Given the description of an element on the screen output the (x, y) to click on. 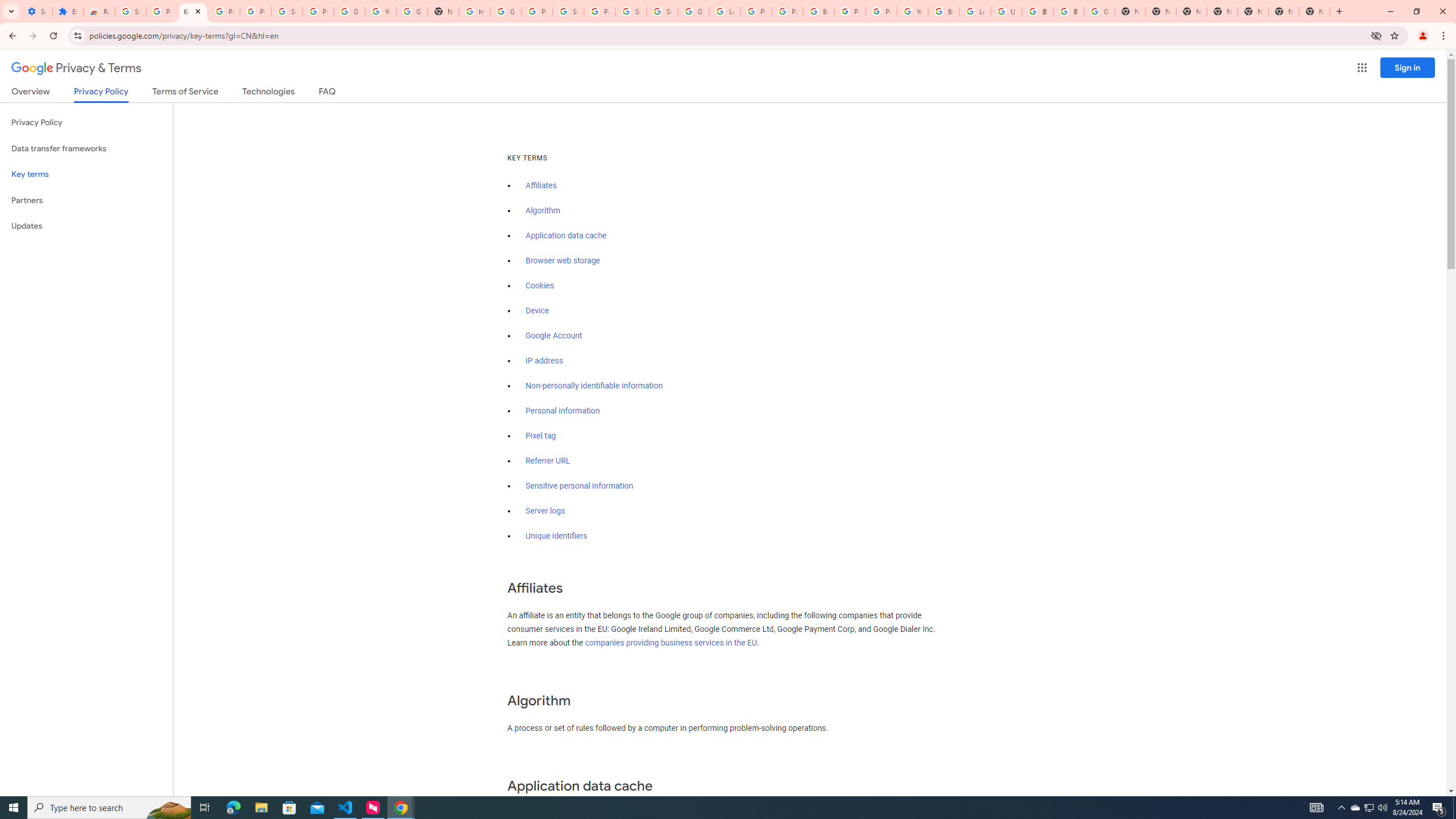
Device (536, 311)
https://scholar.google.com/ (474, 11)
Referrer URL (547, 461)
Sign in - Google Accounts (662, 11)
